Given the description of an element on the screen output the (x, y) to click on. 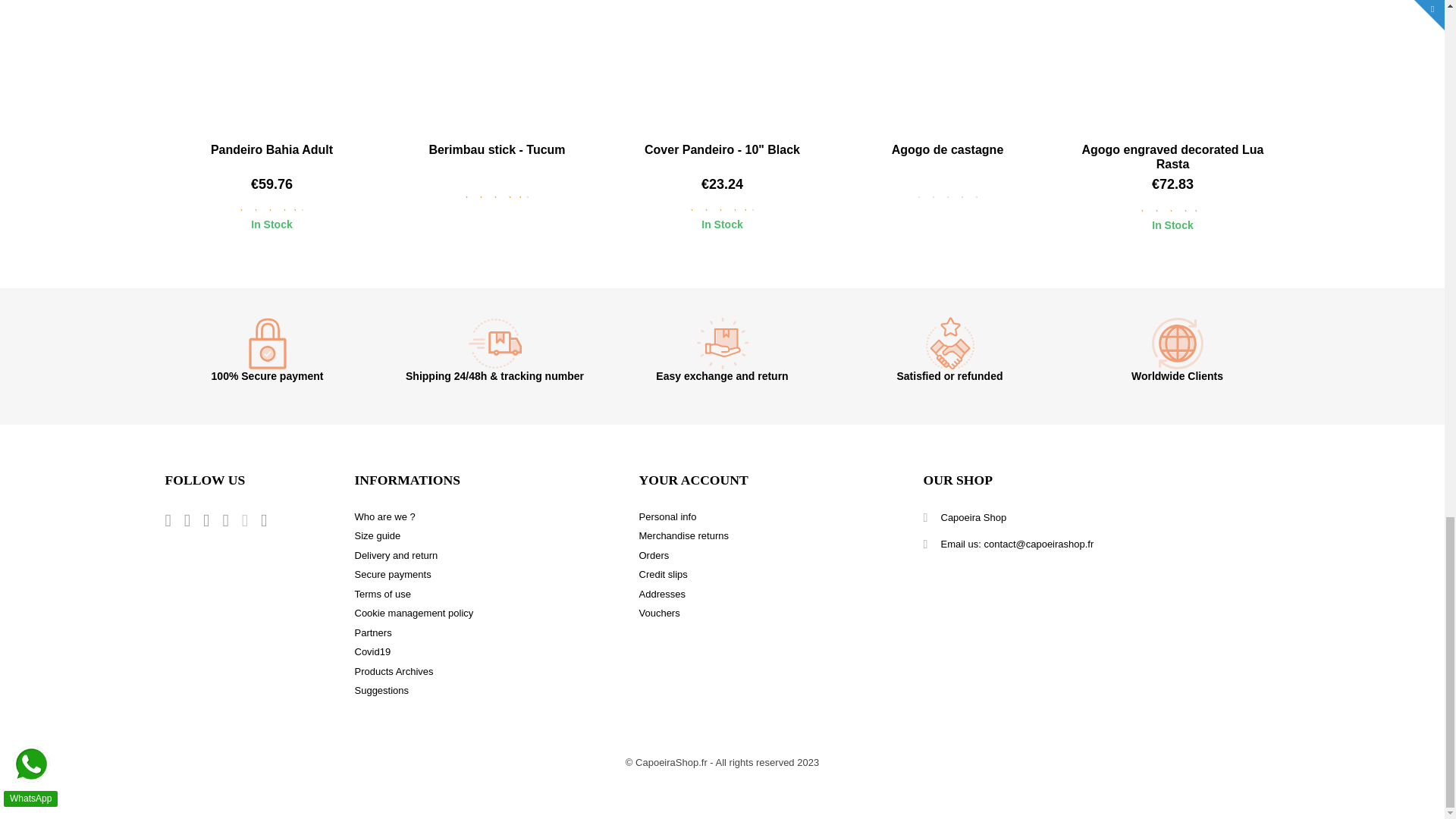
Our terms and conditions (382, 593)
